Given the description of an element on the screen output the (x, y) to click on. 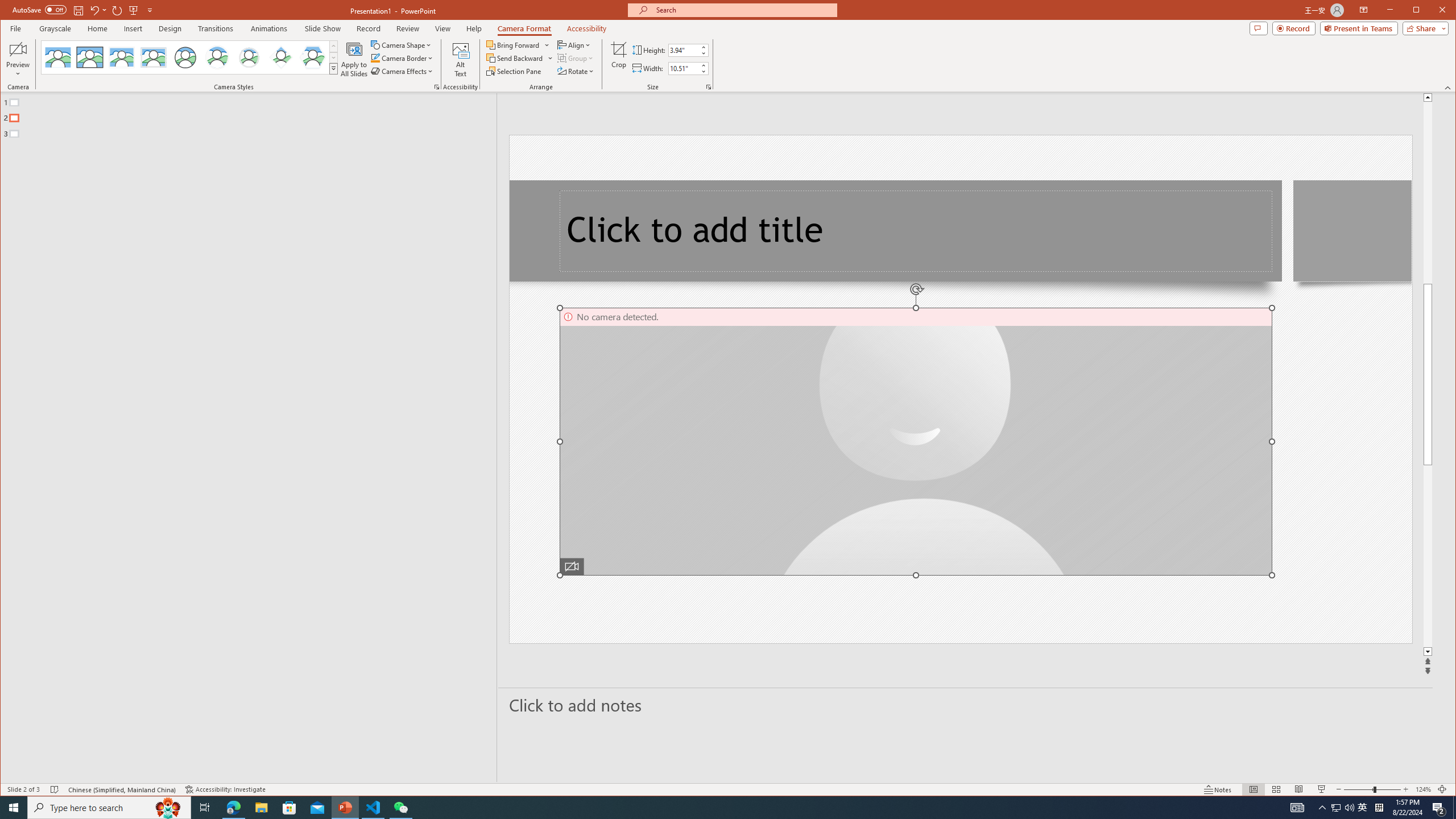
Zoom to Fit  (1441, 789)
Size and Position... (708, 86)
Notification Chevron (1322, 807)
Cameo Height (683, 50)
Camera Border (402, 57)
PowerPoint - 1 running window (345, 807)
Send Backward (515, 57)
Save (77, 9)
Customize Quick Access Toolbar (150, 9)
